Given the description of an element on the screen output the (x, y) to click on. 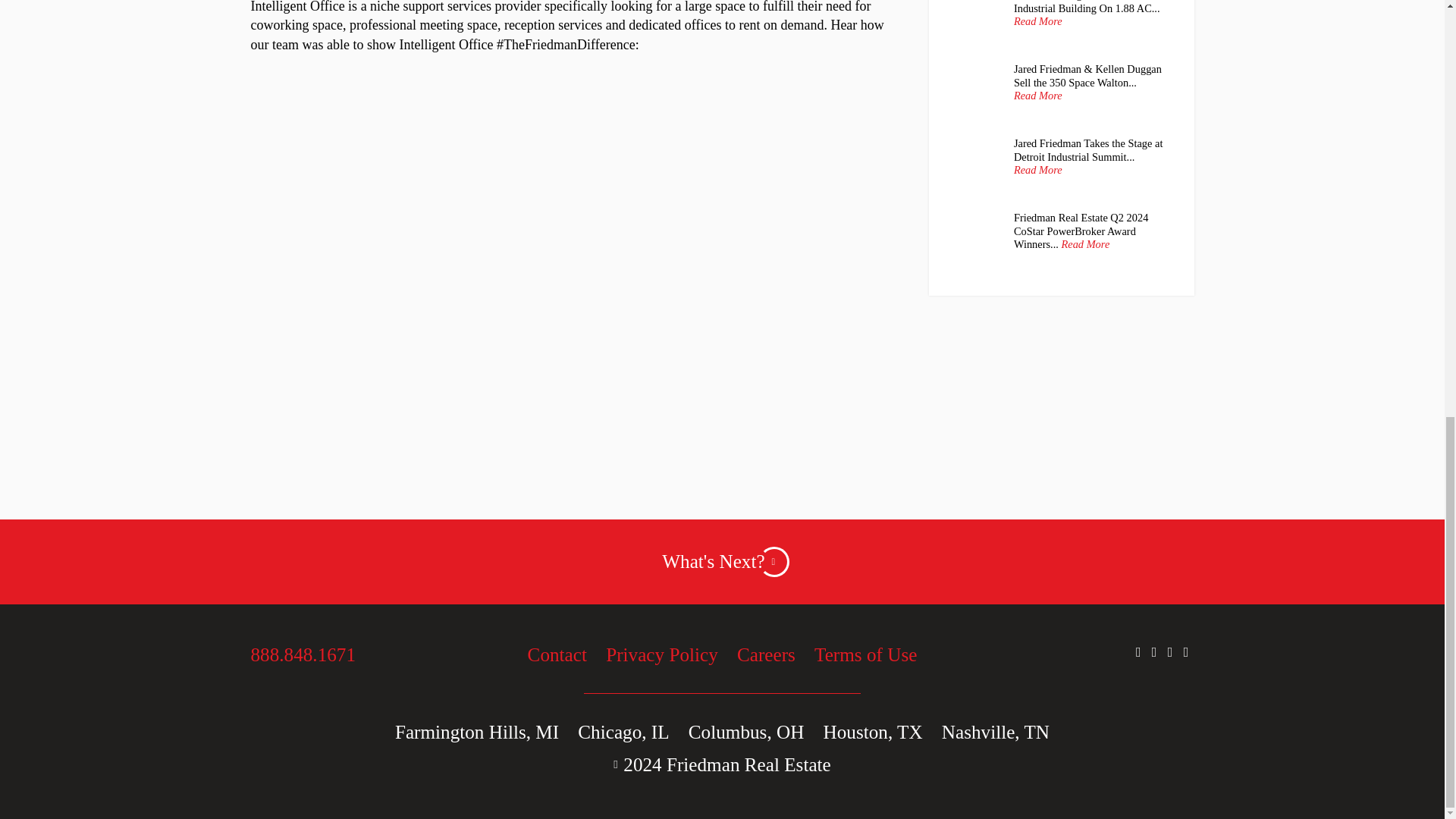
What's Next? (721, 562)
Read More (1085, 244)
Privacy Policy (661, 654)
Contact (556, 654)
Read More (1037, 95)
Read More (1037, 169)
888.848.1671 (318, 654)
Read More (1037, 21)
